Given the description of an element on the screen output the (x, y) to click on. 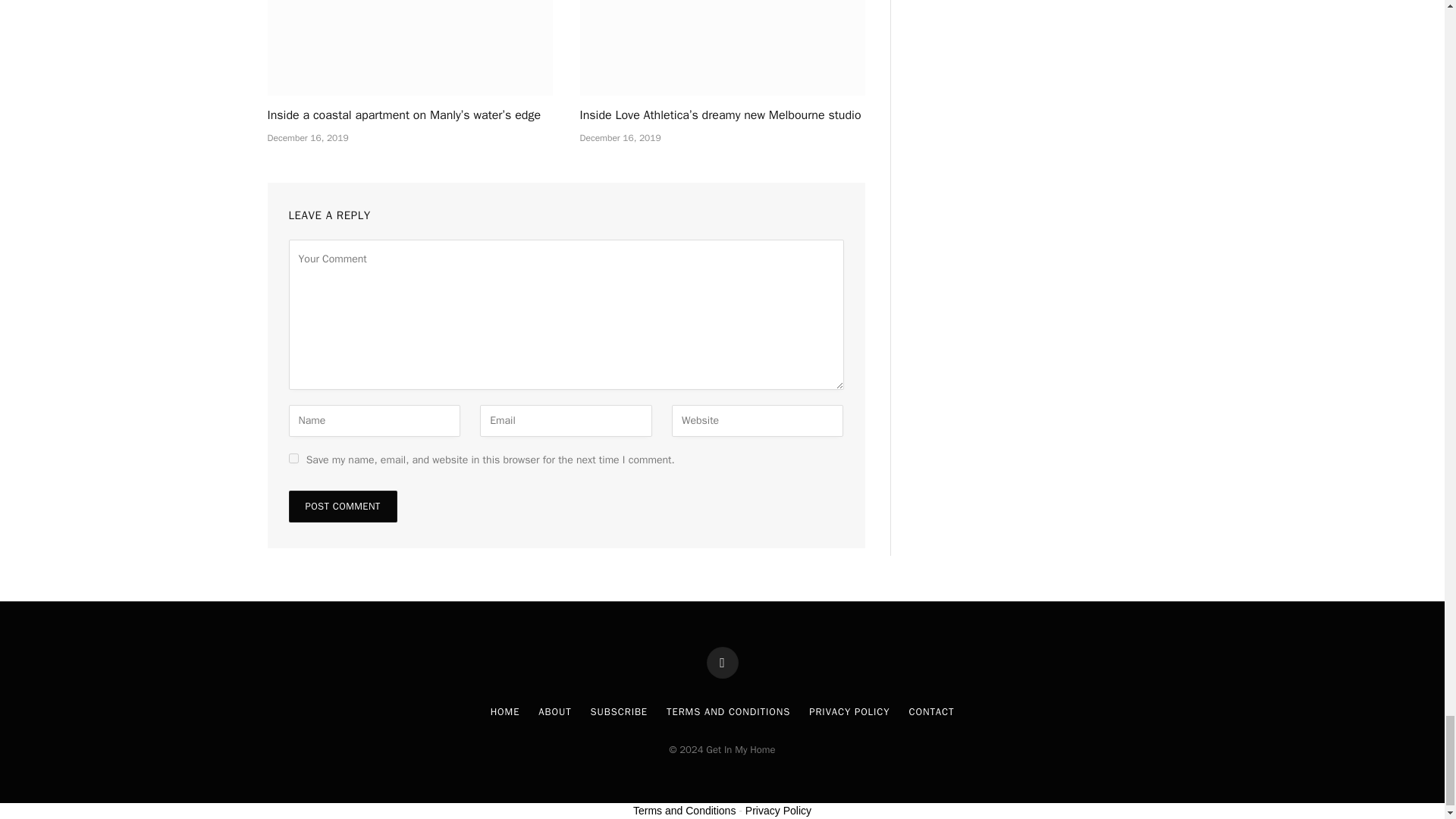
yes (293, 458)
Post Comment (342, 506)
